Given the description of an element on the screen output the (x, y) to click on. 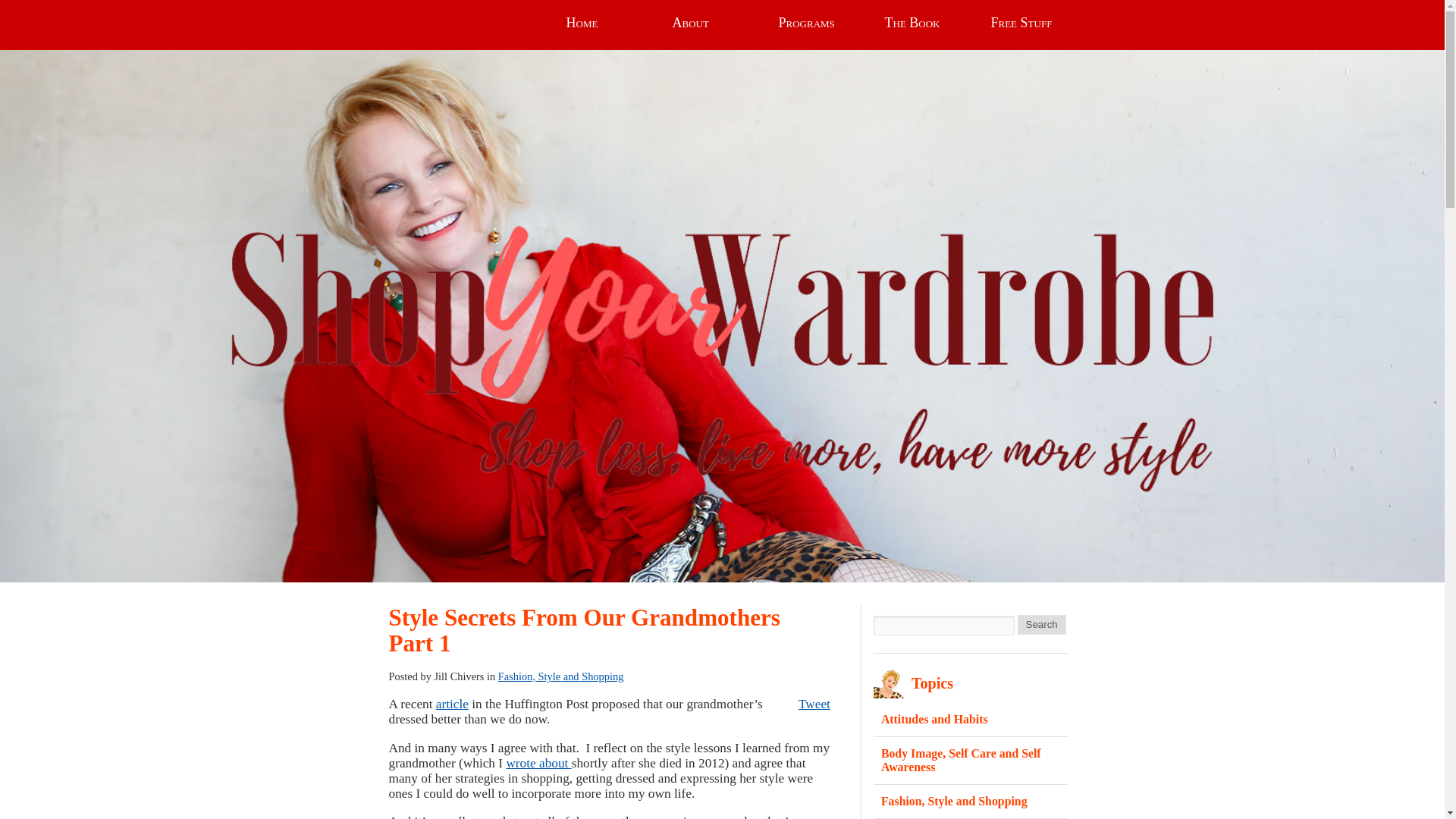
Tweet (813, 703)
About (714, 22)
The Book (926, 22)
Search (1041, 625)
wrote about (537, 762)
Programs (820, 22)
Shop Your Wardrobe (429, 337)
Shop Your Wardrobe (429, 337)
Home (607, 22)
Fashion, Style and Shopping (560, 676)
Free Stuff (1032, 22)
article (451, 703)
